Given the description of an element on the screen output the (x, y) to click on. 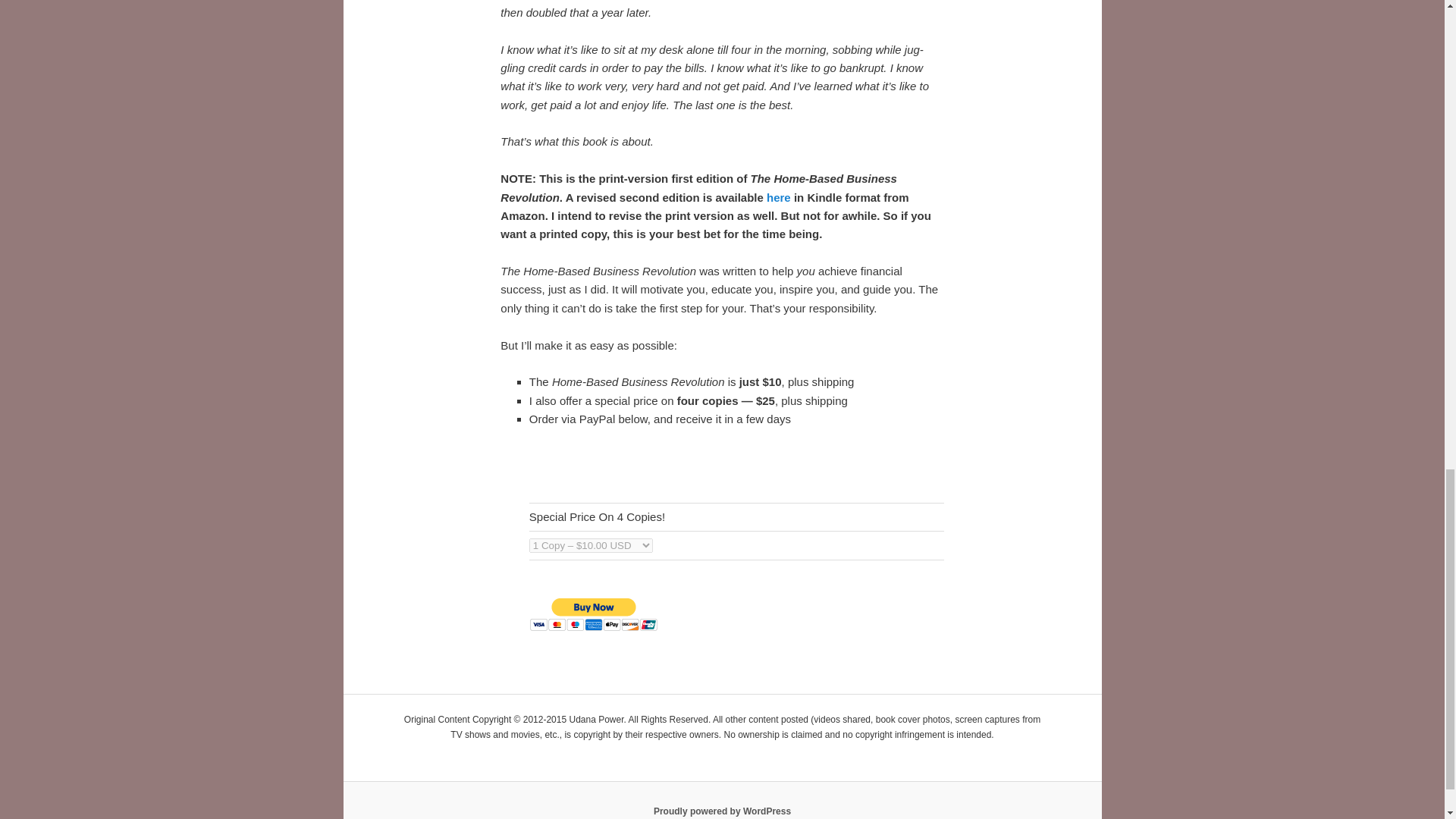
Semantic Personal Publishing Platform (721, 810)
Proudly powered by WordPress (721, 810)
here (778, 196)
here (778, 196)
